Given the description of an element on the screen output the (x, y) to click on. 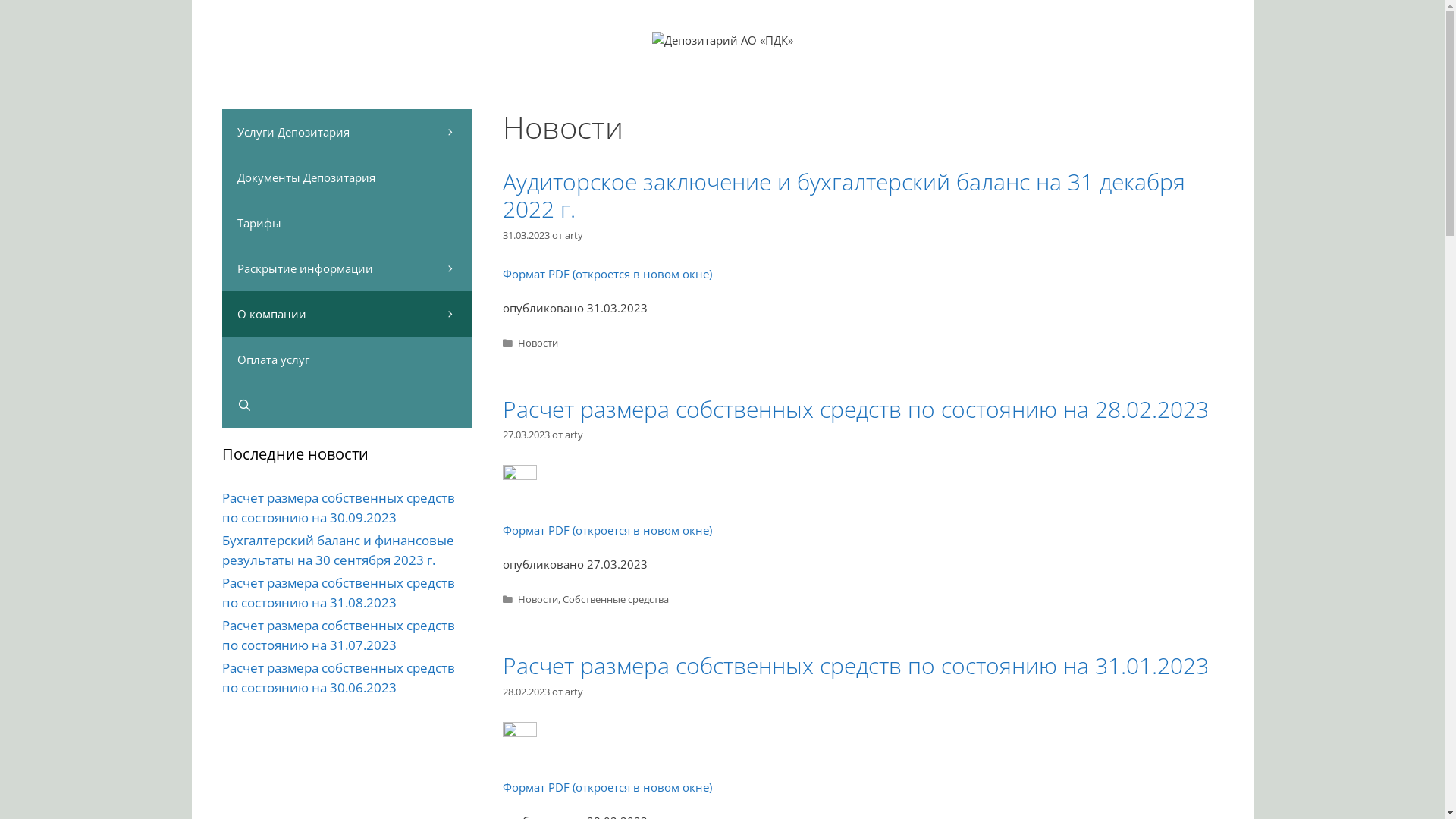
arty Element type: text (573, 234)
arty Element type: text (573, 434)
arty Element type: text (573, 691)
